Given the description of an element on the screen output the (x, y) to click on. 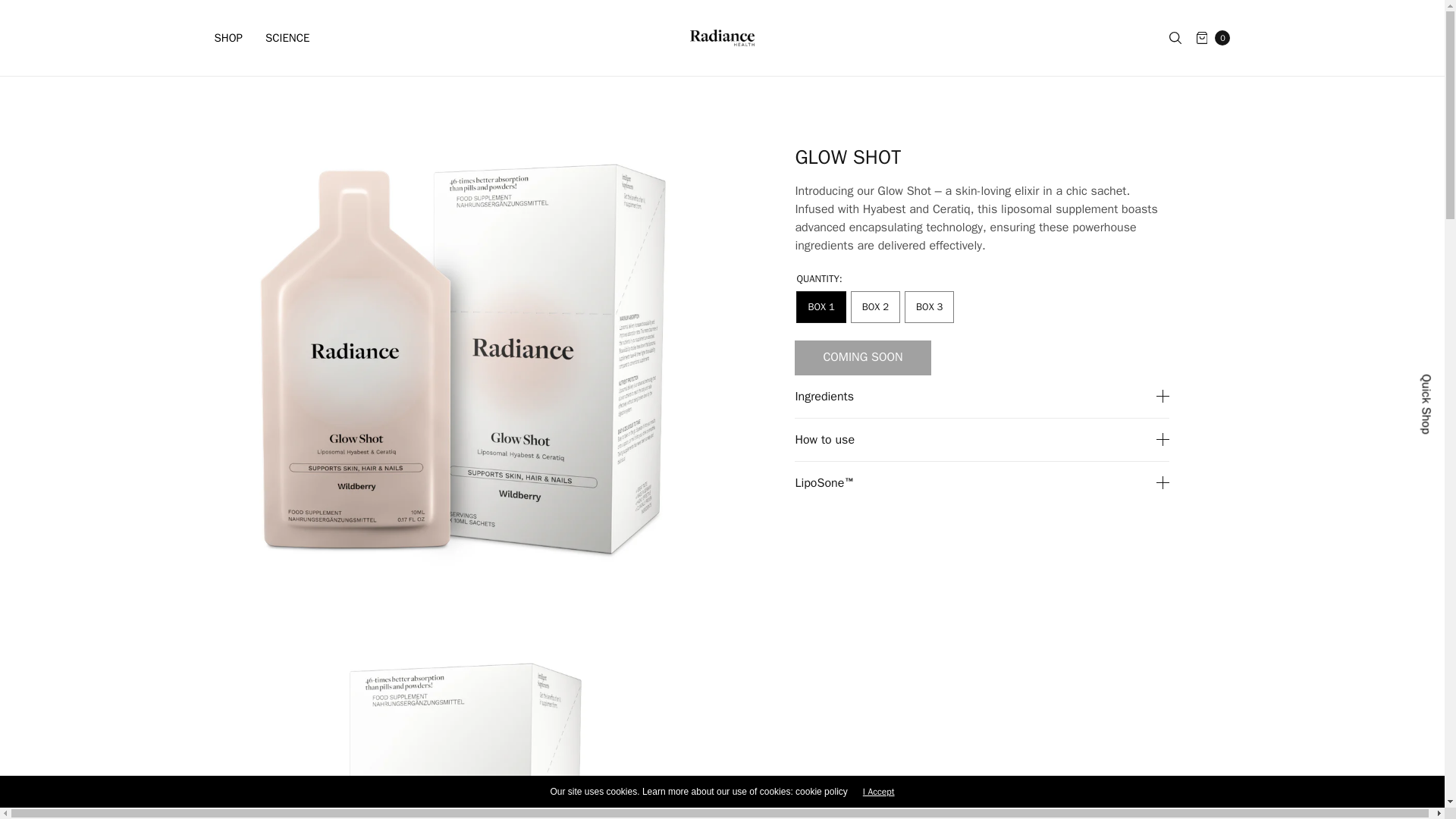
COMING SOON (862, 357)
SCIENCE (286, 38)
SCIENCE (286, 38)
